Given the description of an element on the screen output the (x, y) to click on. 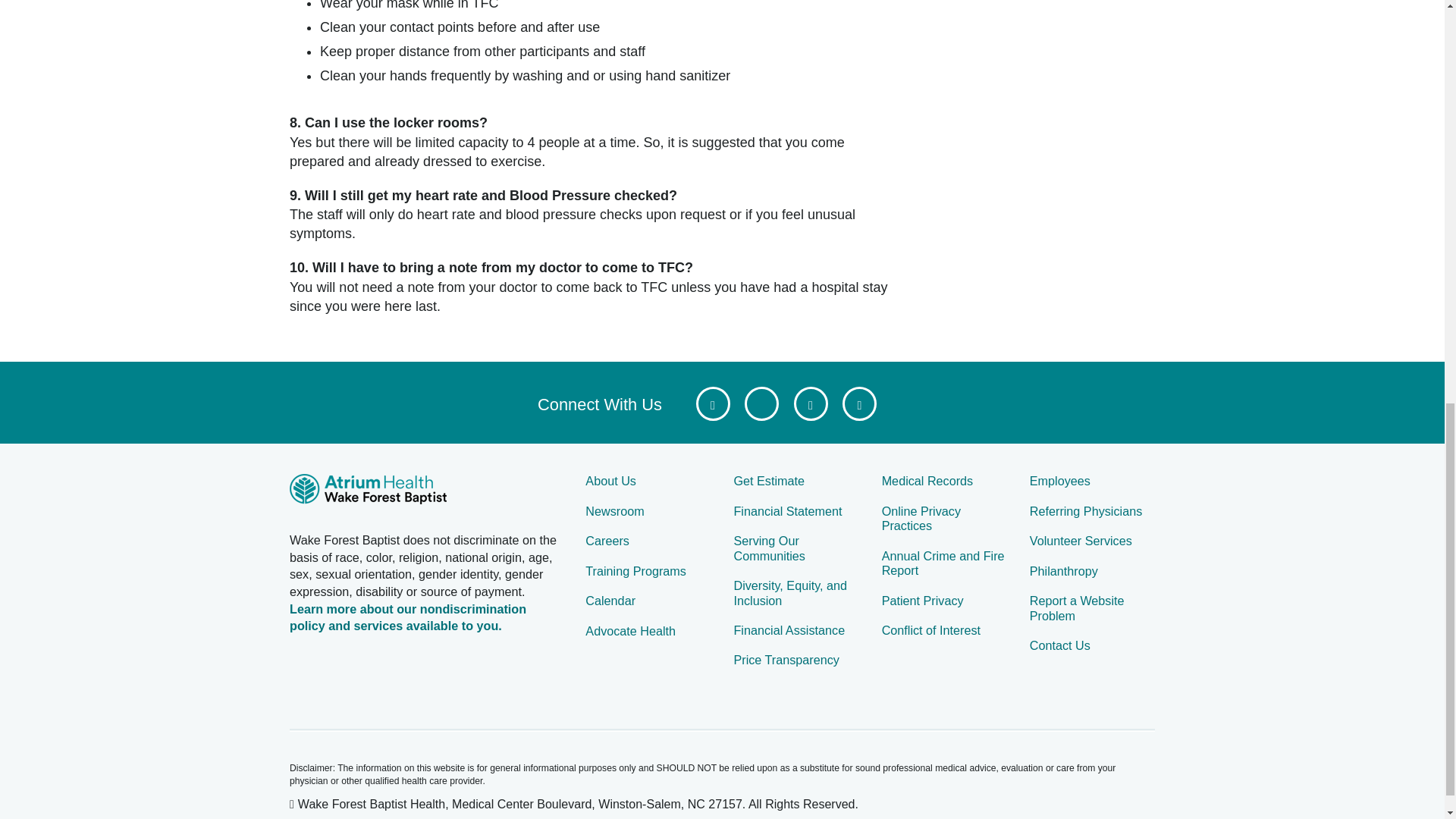
YouTube (810, 403)
Atrium Health Wake Forest Baptist (425, 491)
facebook (712, 403)
twitter (761, 403)
Instagram (859, 403)
